Given the description of an element on the screen output the (x, y) to click on. 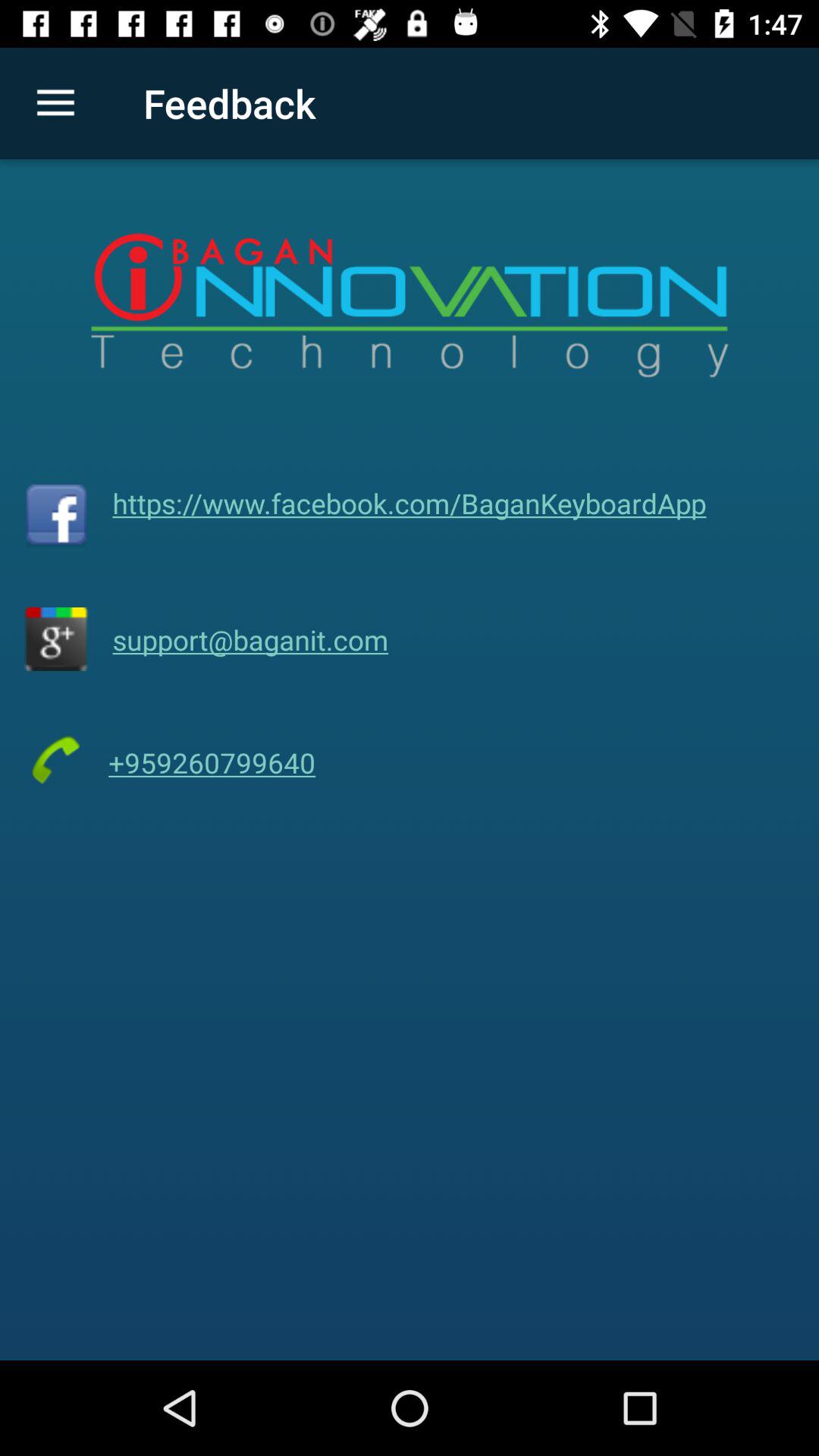
turn on the item above support@baganit.com item (409, 503)
